Given the description of an element on the screen output the (x, y) to click on. 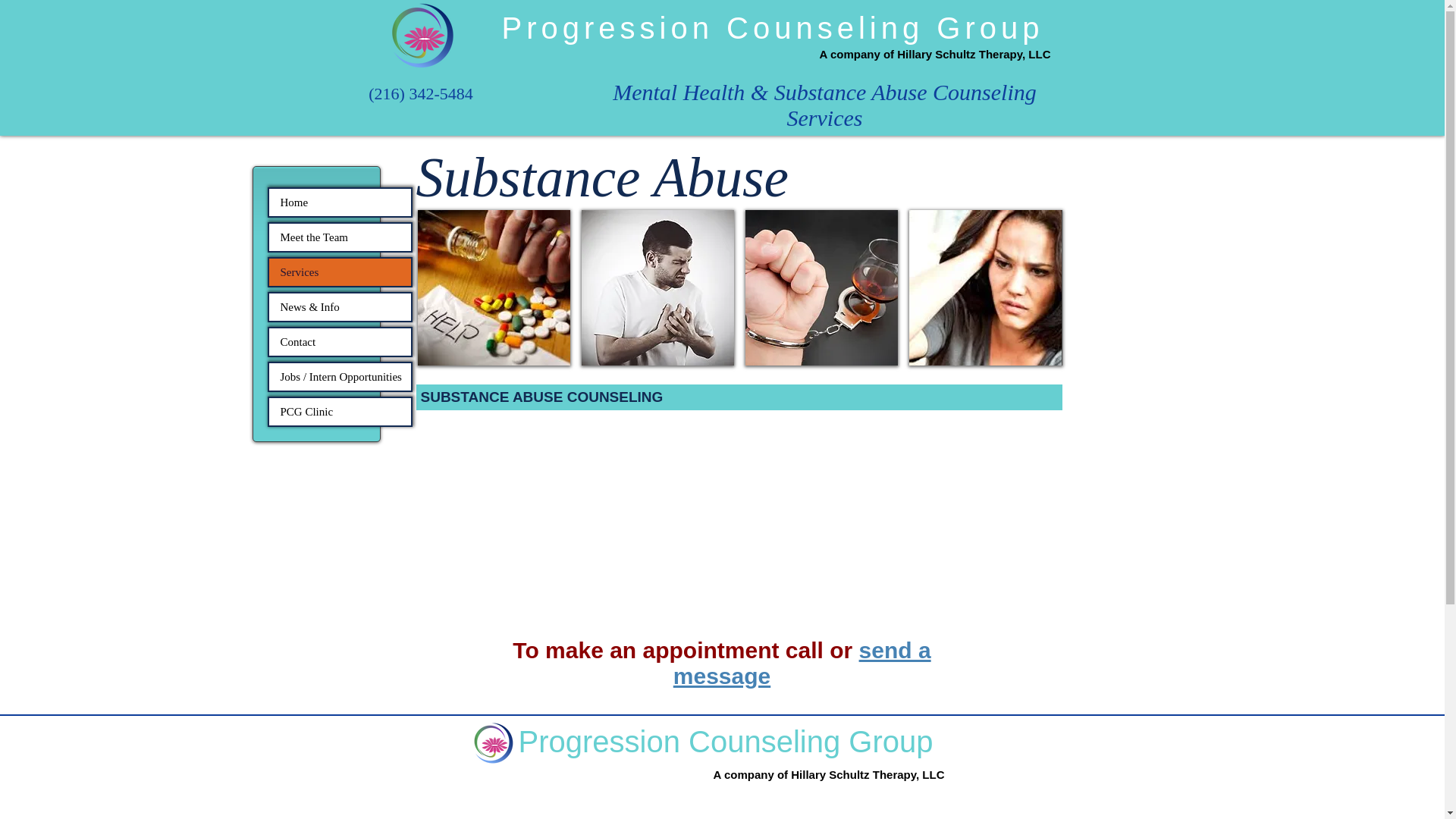
send a message (801, 663)
Meet the Team (338, 236)
Home (338, 202)
Contact (338, 341)
